Given the description of an element on the screen output the (x, y) to click on. 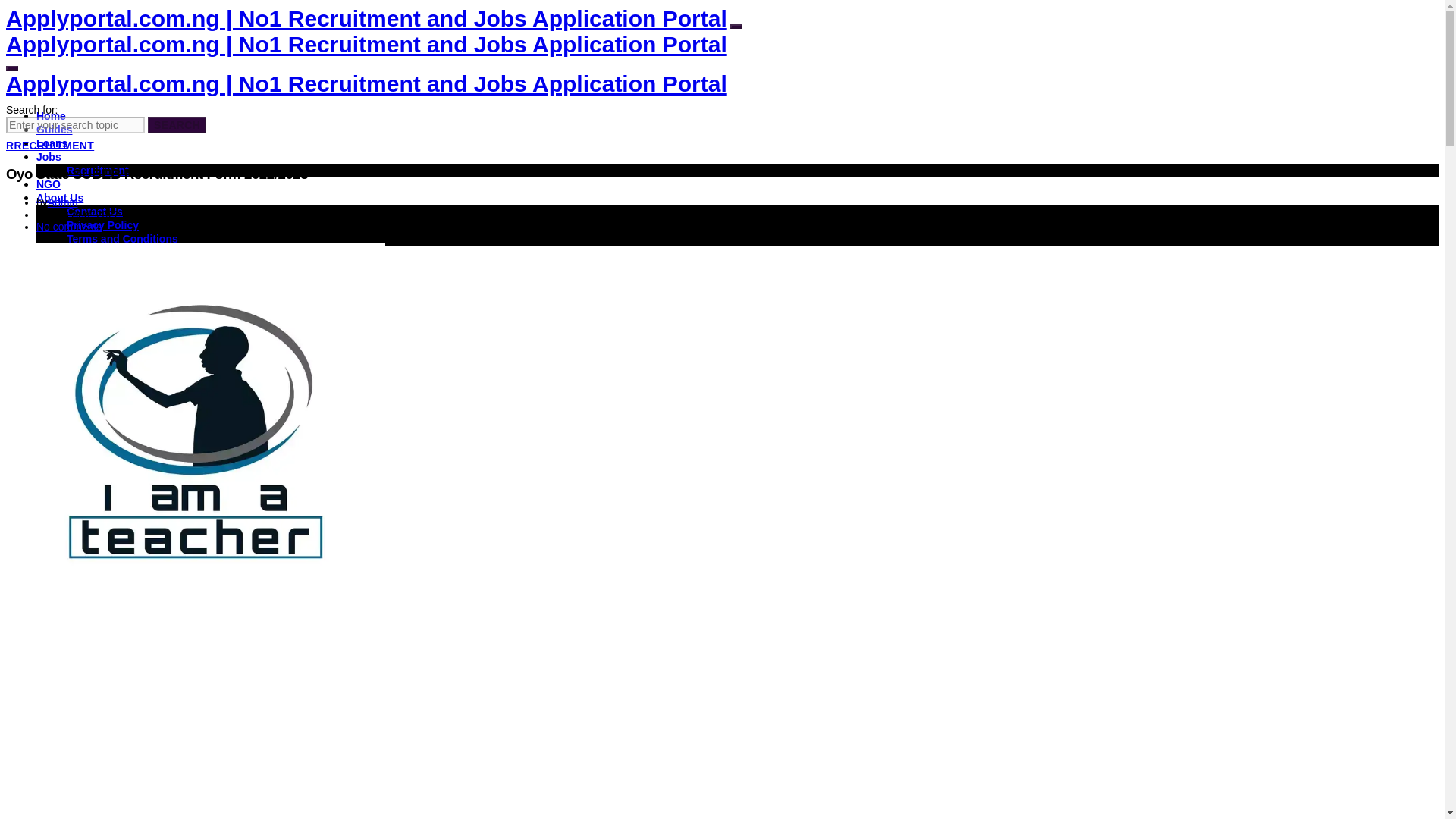
Admin (63, 202)
RRECRUITMENT (49, 145)
NGO (48, 184)
Guides (53, 129)
Terms and Conditions (121, 238)
Home (50, 115)
Privacy Policy (102, 224)
Jobs (48, 156)
Recruitment (97, 170)
Latest Job Vacancies In Nigeria (48, 156)
No comments (68, 226)
Contact Us (94, 211)
View all posts by Admin (63, 202)
About Us (59, 197)
SEARCH (177, 125)
